Given the description of an element on the screen output the (x, y) to click on. 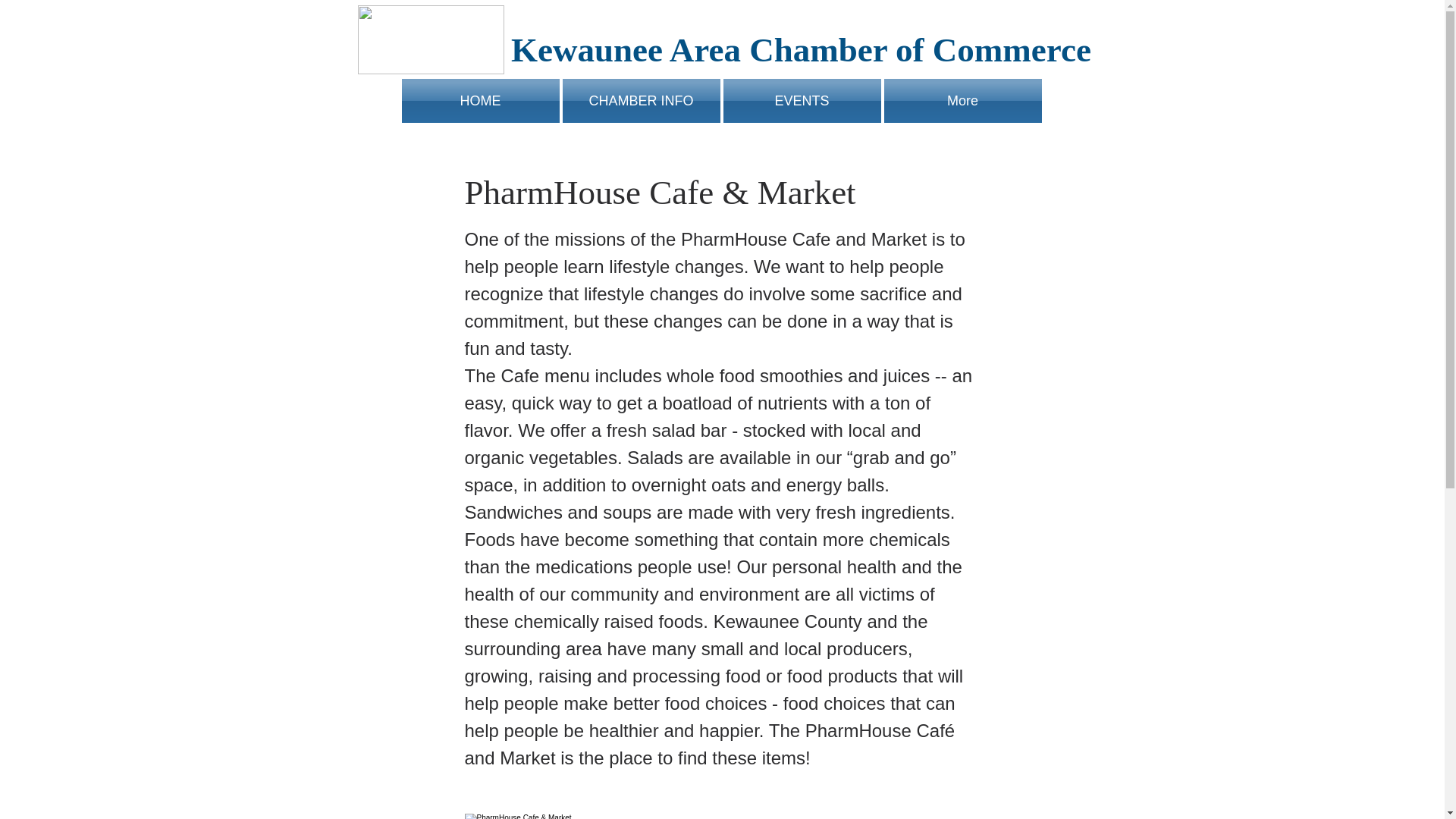
CHAMBER INFO (599, 100)
EVENTS (722, 100)
HOME (477, 100)
Kewaunee Area Chamber of Commerce (800, 49)
LOCAL ATTRACTIONS (965, 100)
VISITOR INFO (843, 100)
logo.png (430, 39)
